Given the description of an element on the screen output the (x, y) to click on. 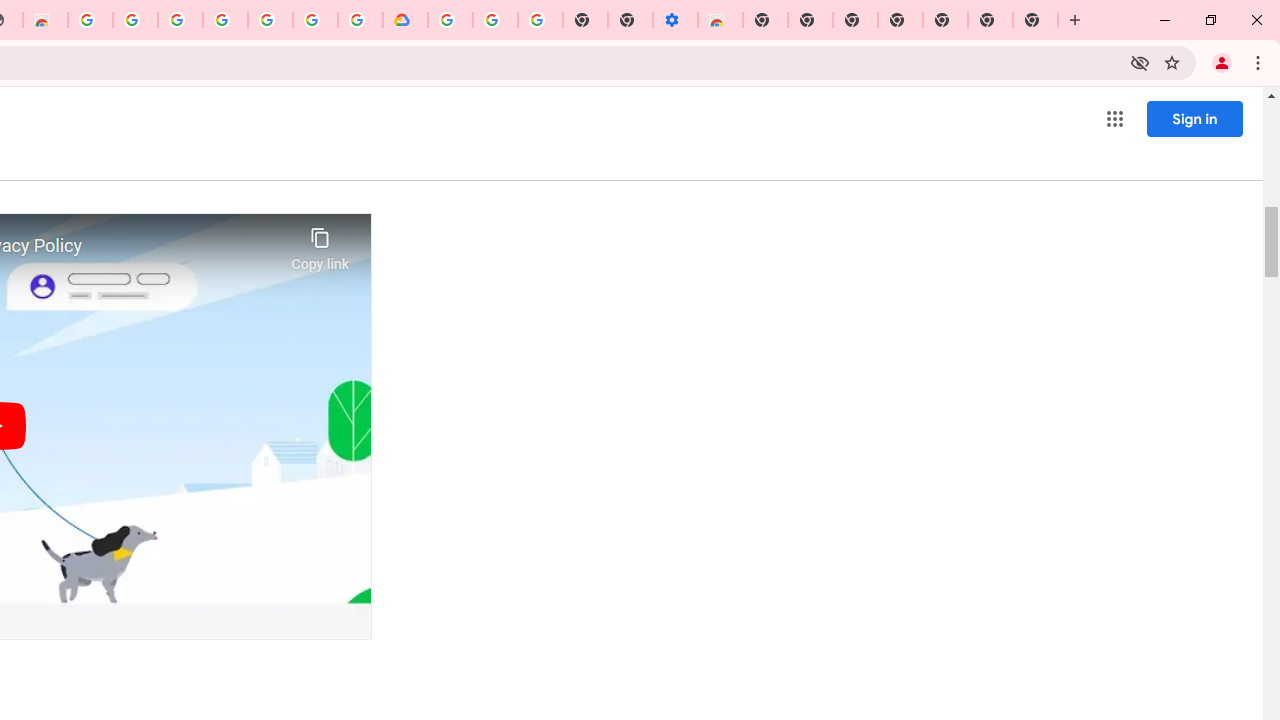
Sign in (1194, 118)
New Tab (944, 20)
Google Account Help (495, 20)
Sign in - Google Accounts (180, 20)
New Tab (765, 20)
Chrome Web Store - Accessibility extensions (720, 20)
Turn cookies on or off - Computer - Google Account Help (540, 20)
Copy link (319, 244)
